Given the description of an element on the screen output the (x, y) to click on. 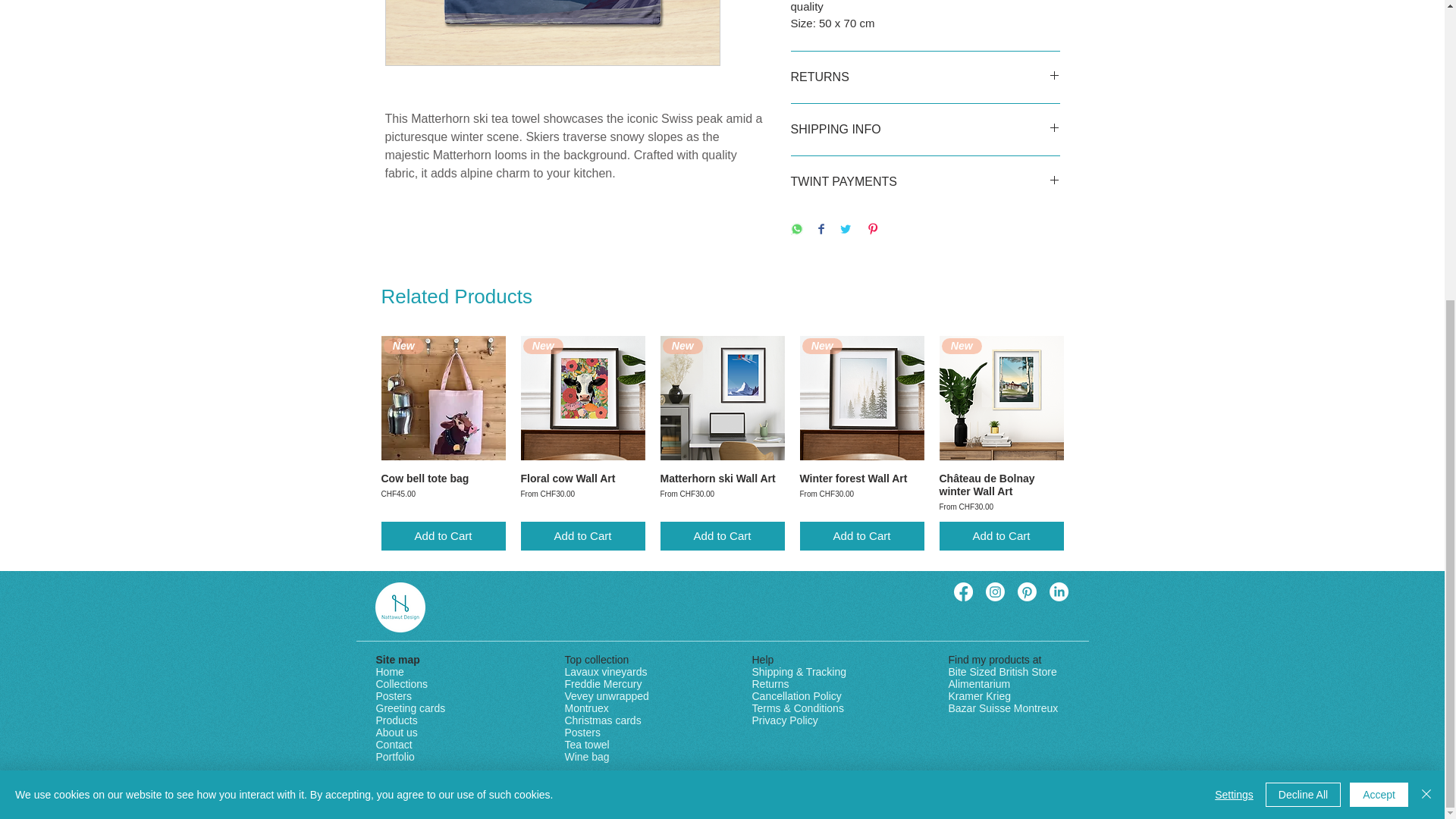
New (721, 397)
Add to Cart (442, 536)
RETURNS (924, 77)
SHIPPING INFO (924, 129)
New (582, 397)
Add to Cart (442, 492)
New (582, 492)
Add to Cart (721, 492)
TWINT PAYMENTS (582, 536)
New (861, 397)
